Given the description of an element on the screen output the (x, y) to click on. 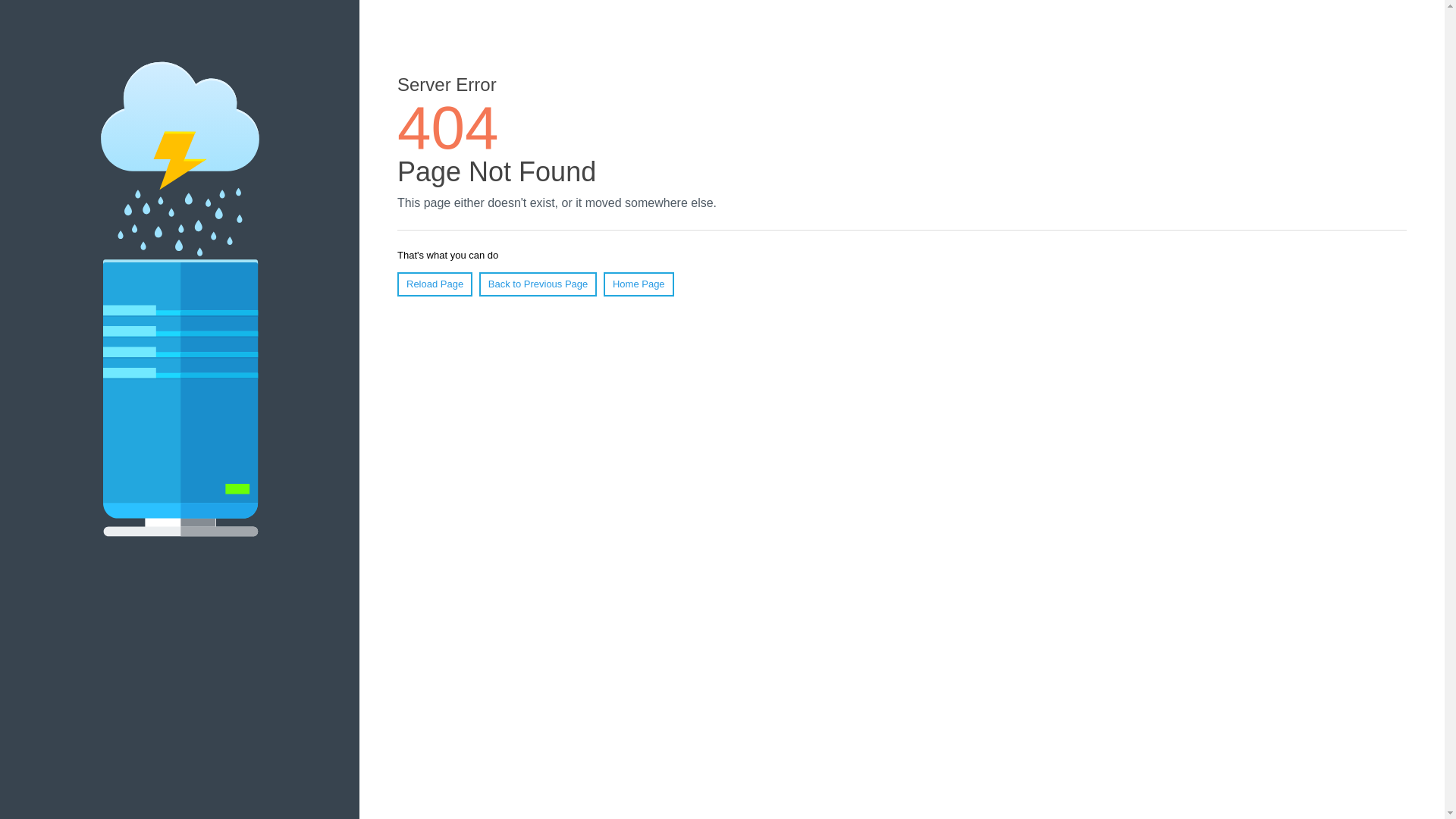
Back to Previous Page Element type: text (538, 284)
Reload Page Element type: text (434, 284)
Home Page Element type: text (638, 284)
